Given the description of an element on the screen output the (x, y) to click on. 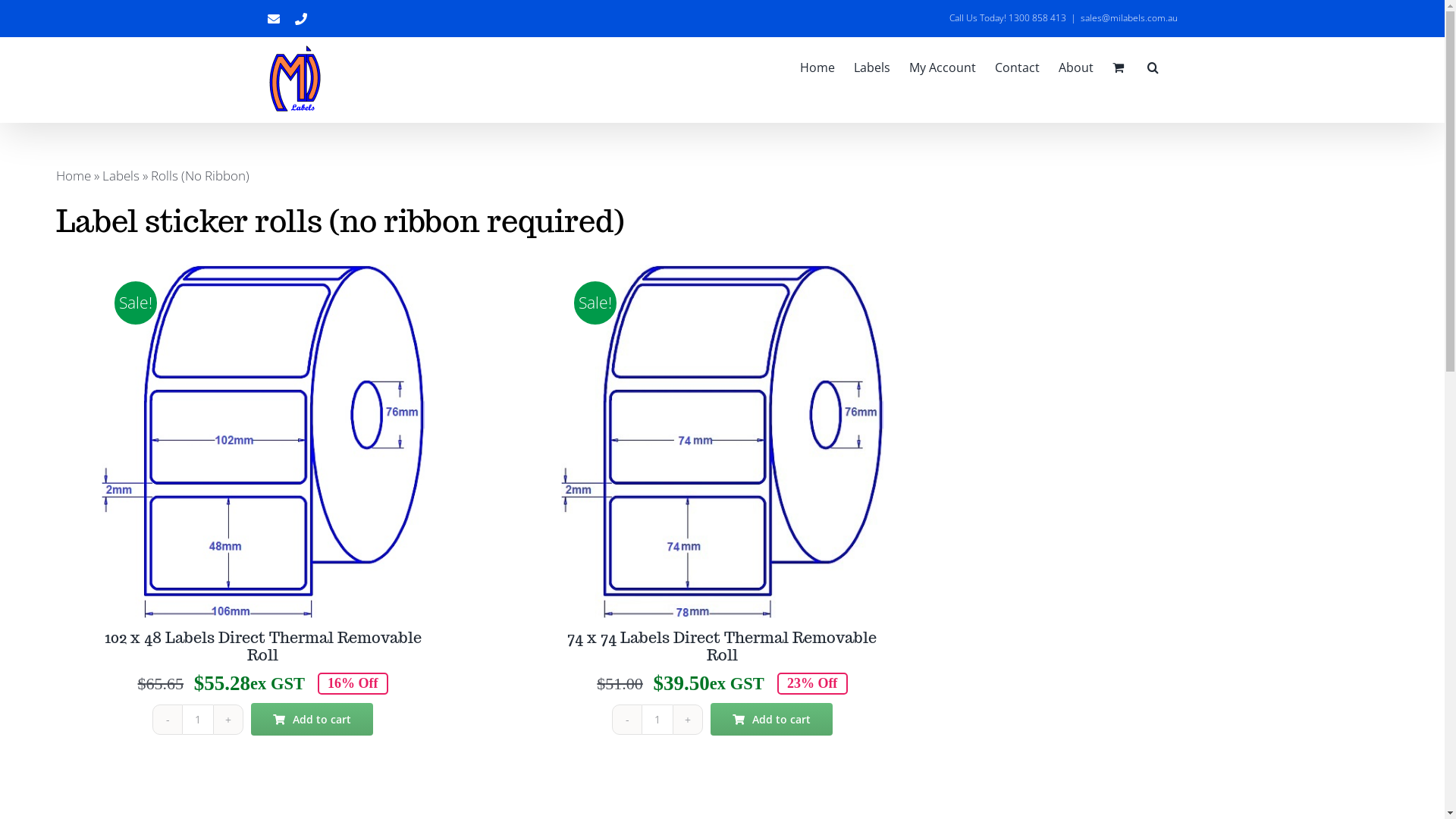
Home Element type: text (816, 67)
102 x 48 Labels Direct Thermal Removable Roll Element type: text (262, 646)
Phone Element type: text (300, 18)
74 x 74 Labels Direct Thermal Removable Roll Element type: text (721, 646)
Labels Element type: text (871, 67)
About Element type: text (1075, 67)
Email Element type: text (272, 18)
Contact Element type: text (1016, 67)
sales@milabels.com.au Element type: text (1127, 17)
Home Element type: text (73, 175)
Add to cart Element type: text (771, 718)
Search Element type: hover (1151, 67)
Labels Element type: text (120, 175)
My Account Element type: text (941, 67)
Add to cart Element type: text (312, 718)
